Given the description of an element on the screen output the (x, y) to click on. 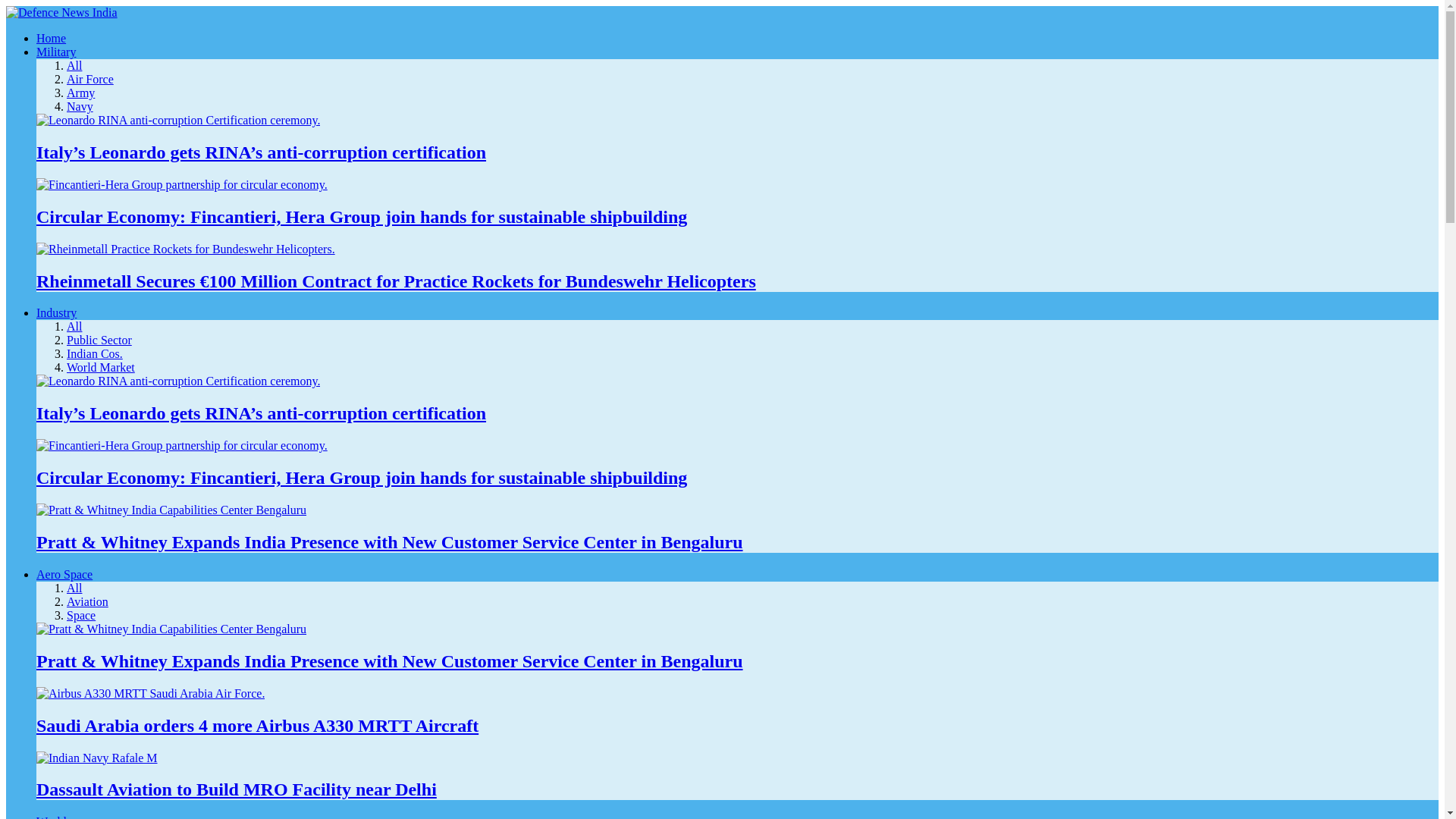
World (51, 816)
Public Sector (99, 339)
Air Force (89, 78)
World Market (100, 367)
All (73, 65)
Saudi Arabia orders 4 more Airbus A330 MRTT Aircraft (257, 725)
All (73, 326)
Space (81, 615)
Aviation (86, 601)
Indian Cos. (94, 353)
